Given the description of an element on the screen output the (x, y) to click on. 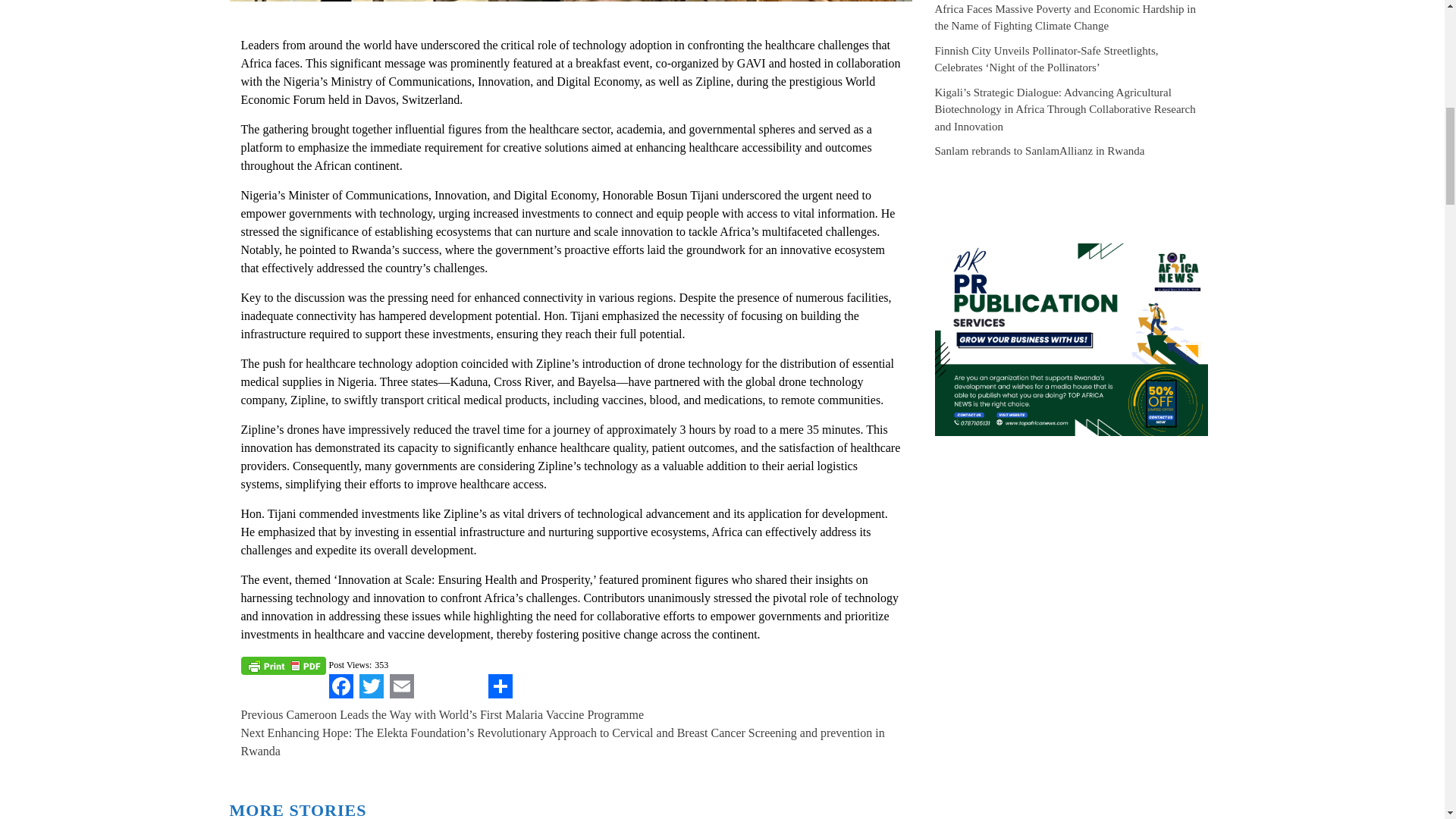
Facebook (341, 686)
Email (401, 686)
Share (499, 686)
Email (401, 686)
Twitter (371, 686)
Twitter (371, 686)
Facebook (341, 686)
